Given the description of an element on the screen output the (x, y) to click on. 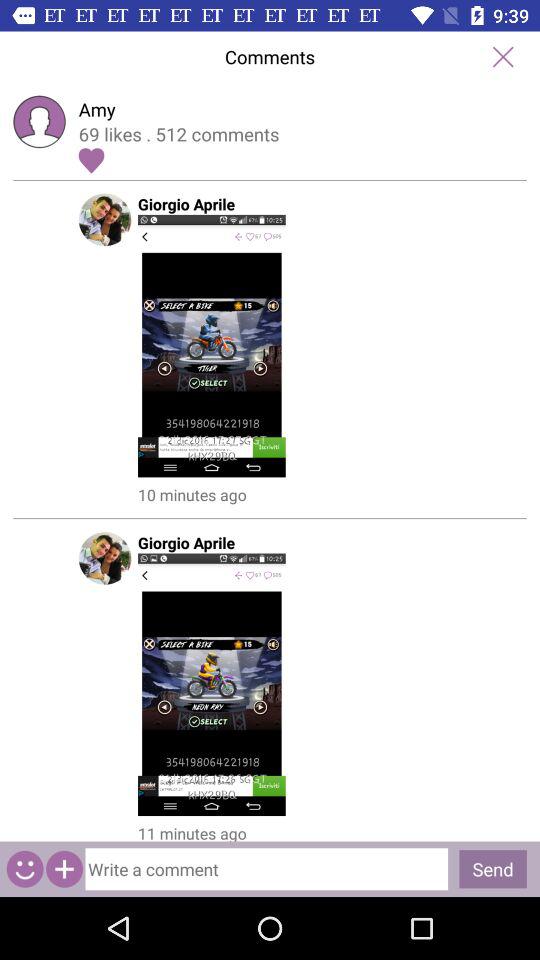
favorites the item (91, 160)
